Given the description of an element on the screen output the (x, y) to click on. 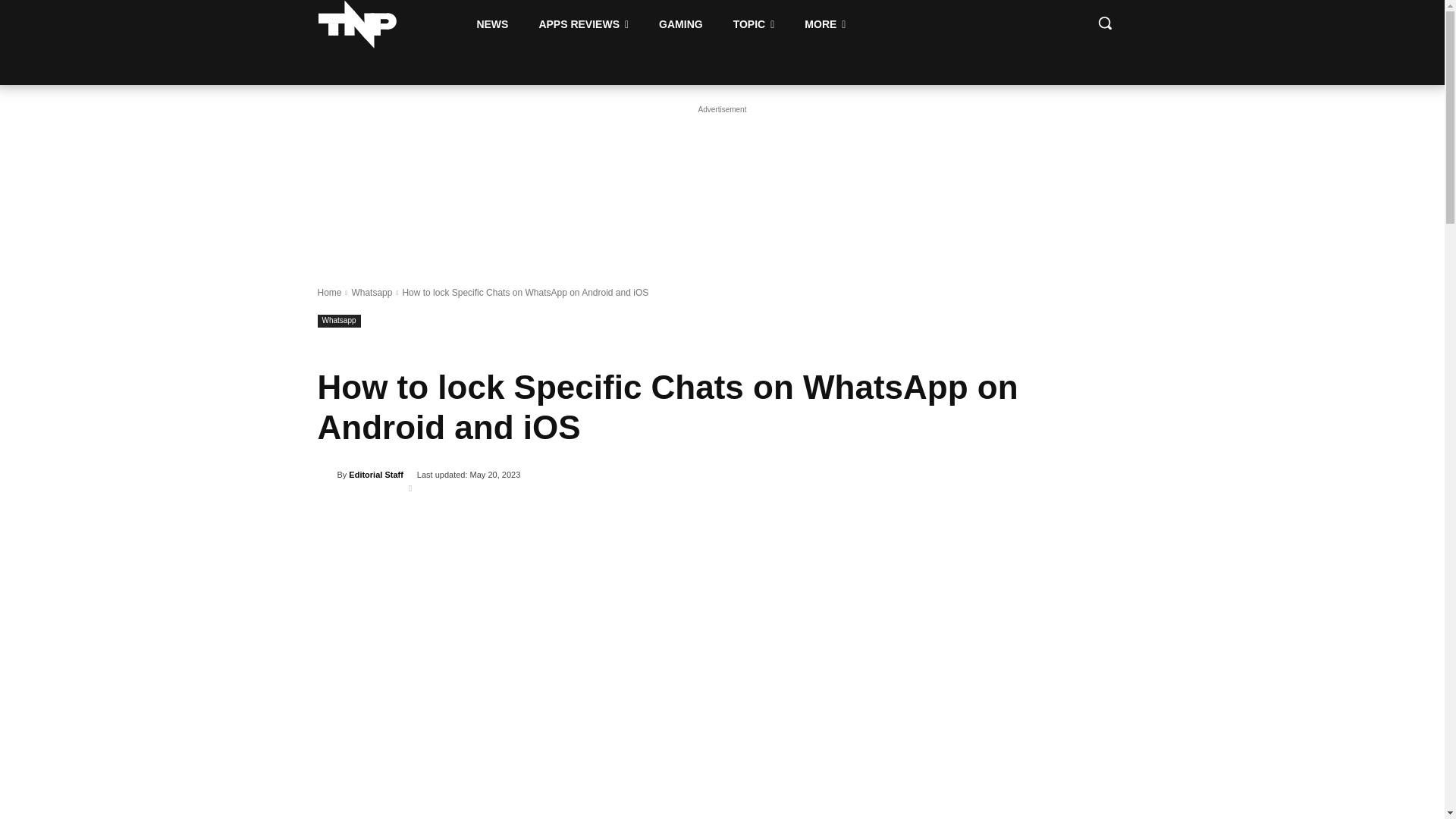
Editorial Staff (326, 474)
NEWS (491, 23)
View all posts in Whatsapp (370, 292)
APPS REVIEWS (582, 23)
Technewztop (357, 24)
